Given the description of an element on the screen output the (x, y) to click on. 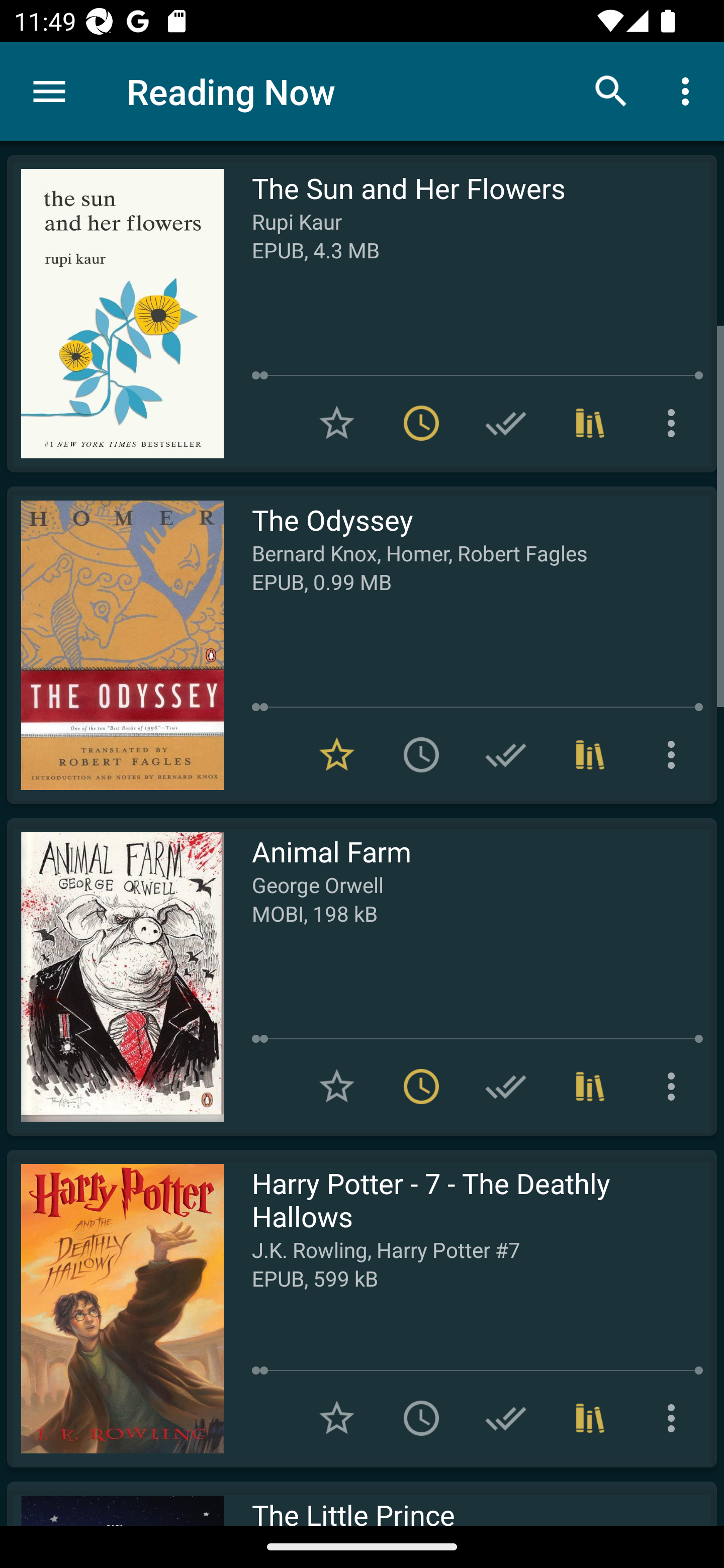
Menu (49, 91)
Search books & documents (611, 90)
More options (688, 90)
Read The Sun and Her Flowers (115, 313)
Add to Favorites (336, 423)
Remove from To read (421, 423)
Add to Have read (505, 423)
Collections (1) (590, 423)
More options (674, 423)
Read The Odyssey (115, 645)
Remove from Favorites (336, 753)
Add to To read (421, 753)
Add to Have read (505, 753)
Collections (1) (590, 753)
More options (674, 753)
Read Animal Farm (115, 976)
Add to Favorites (336, 1086)
Remove from To read (421, 1086)
Add to Have read (505, 1086)
Collections (1) (590, 1086)
More options (674, 1086)
Read Harry Potter - 7 - The Deathly Hallows (115, 1308)
Add to Favorites (336, 1417)
Add to To read (421, 1417)
Add to Have read (505, 1417)
Collections (1) (590, 1417)
More options (674, 1417)
